Given the description of an element on the screen output the (x, y) to click on. 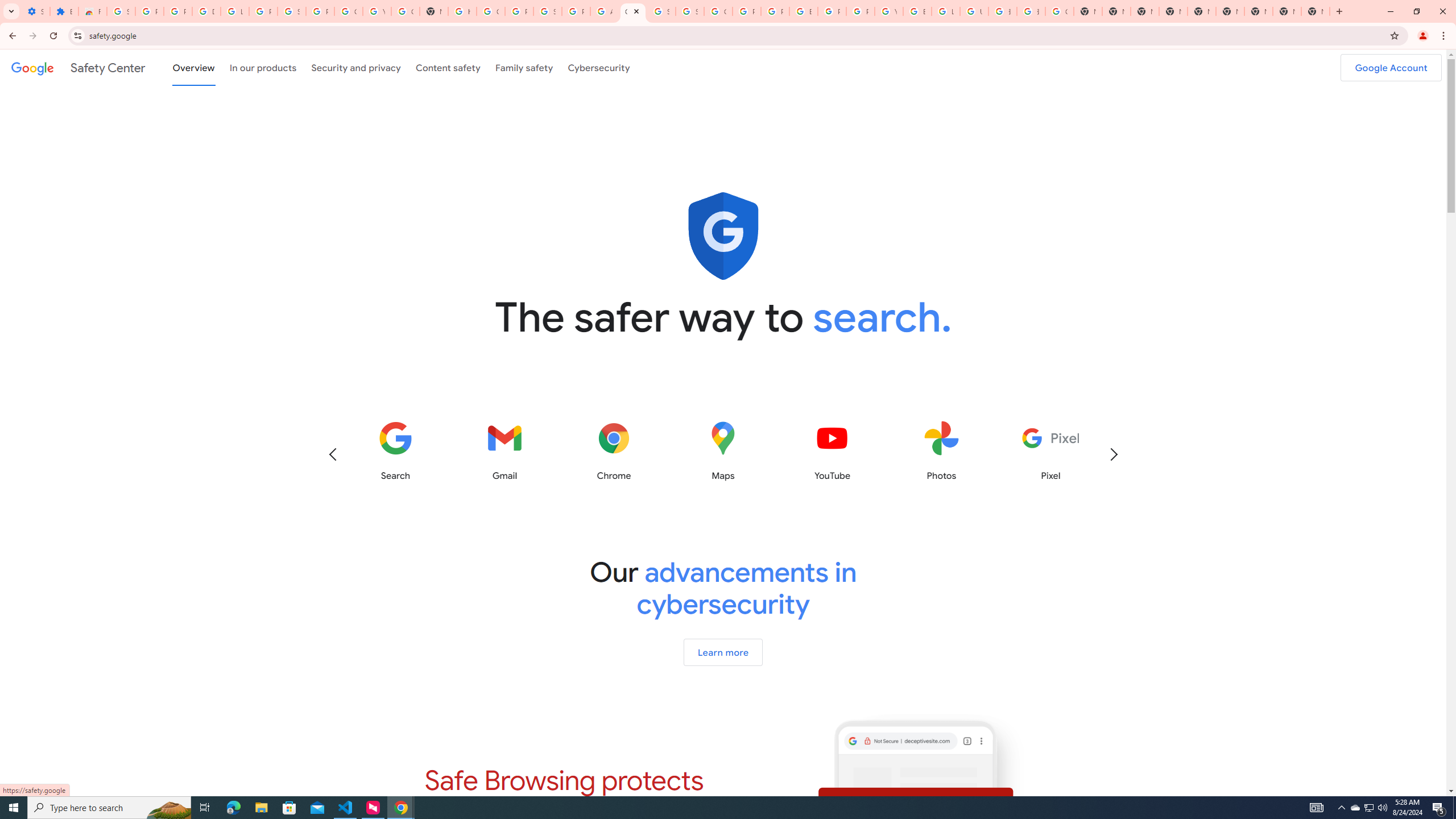
Delete photos & videos - Computer - Google Photos Help (206, 11)
Cybersecurity (598, 67)
Google Images (1058, 11)
